Given the description of an element on the screen output the (x, y) to click on. 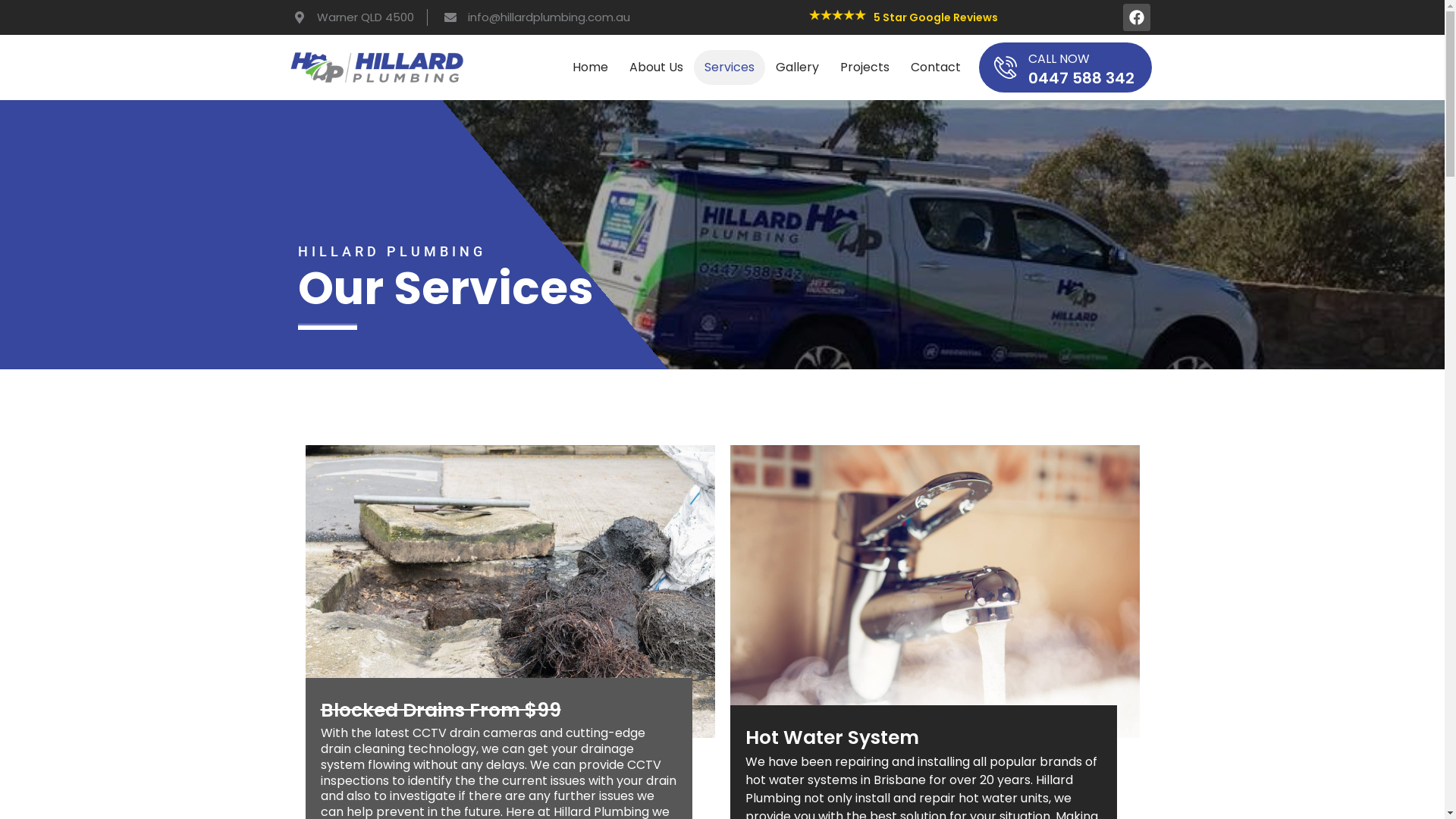
Blocked Drains From $99 Element type: text (440, 709)
Home Element type: text (589, 67)
5 Star Google Reviews Element type: text (935, 17)
Projects Element type: text (864, 67)
Hot Water System Element type: text (831, 736)
Gallery Element type: text (797, 67)
Contact Element type: text (935, 67)
Services Element type: text (729, 67)
info@hillardplumbing.com.au Element type: text (535, 17)
0447 588 342 Element type: text (1081, 77)
About Us Element type: text (655, 67)
CALL NOW Element type: text (1058, 58)
